Given the description of an element on the screen output the (x, y) to click on. 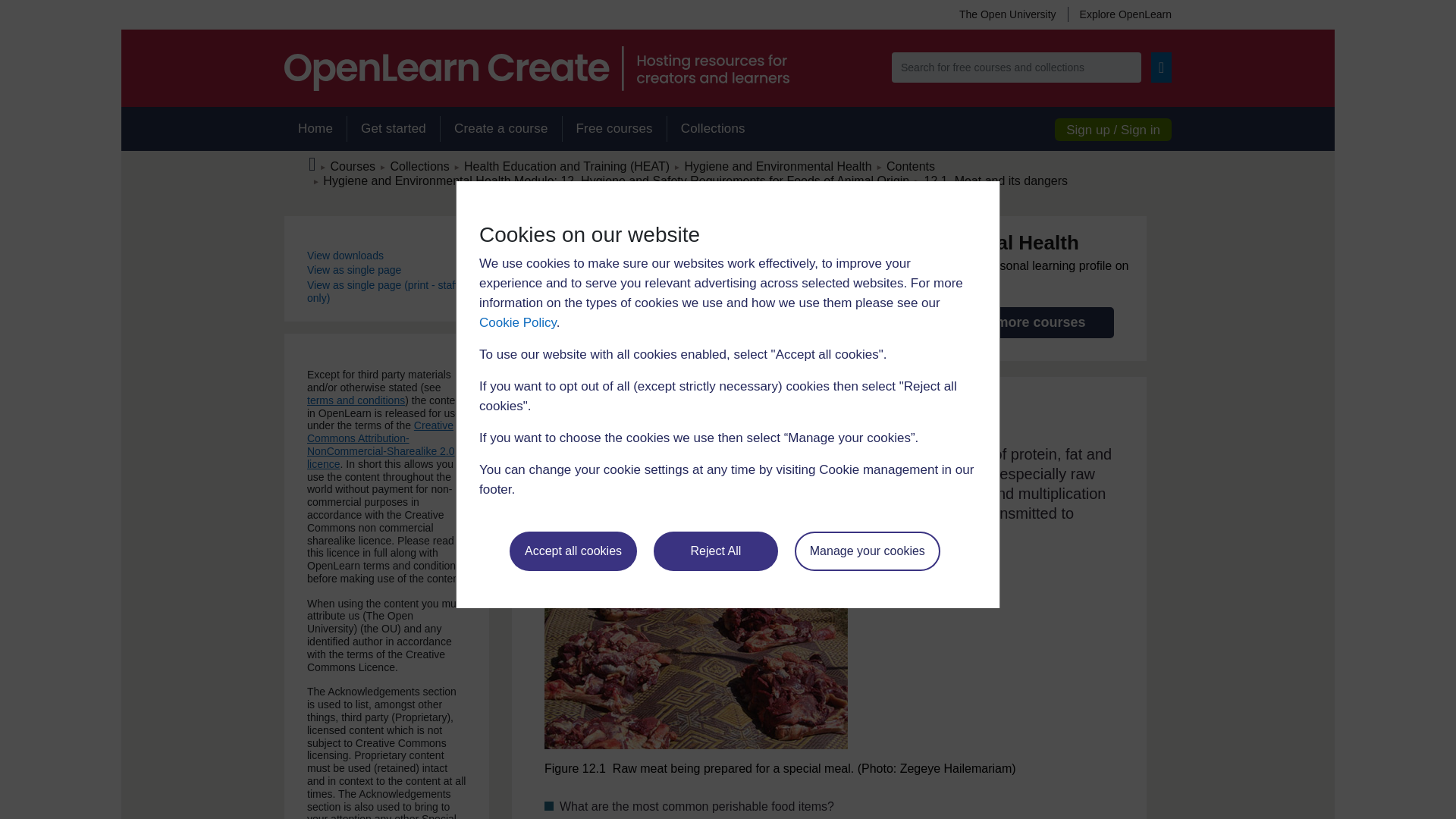
OpenLearn Create (536, 67)
Manage your cookies (867, 550)
Accept all cookies (573, 550)
Create a course (500, 128)
Collections (712, 128)
The Open University (1007, 14)
Home (314, 128)
Explore OpenLearn (1119, 14)
Free courses (614, 128)
Get started (392, 128)
Explore OpenLearn (1119, 14)
SC Web Editor (615, 180)
The Open University (1007, 14)
Reject All (715, 550)
Cookie Policy (517, 322)
